Given the description of an element on the screen output the (x, y) to click on. 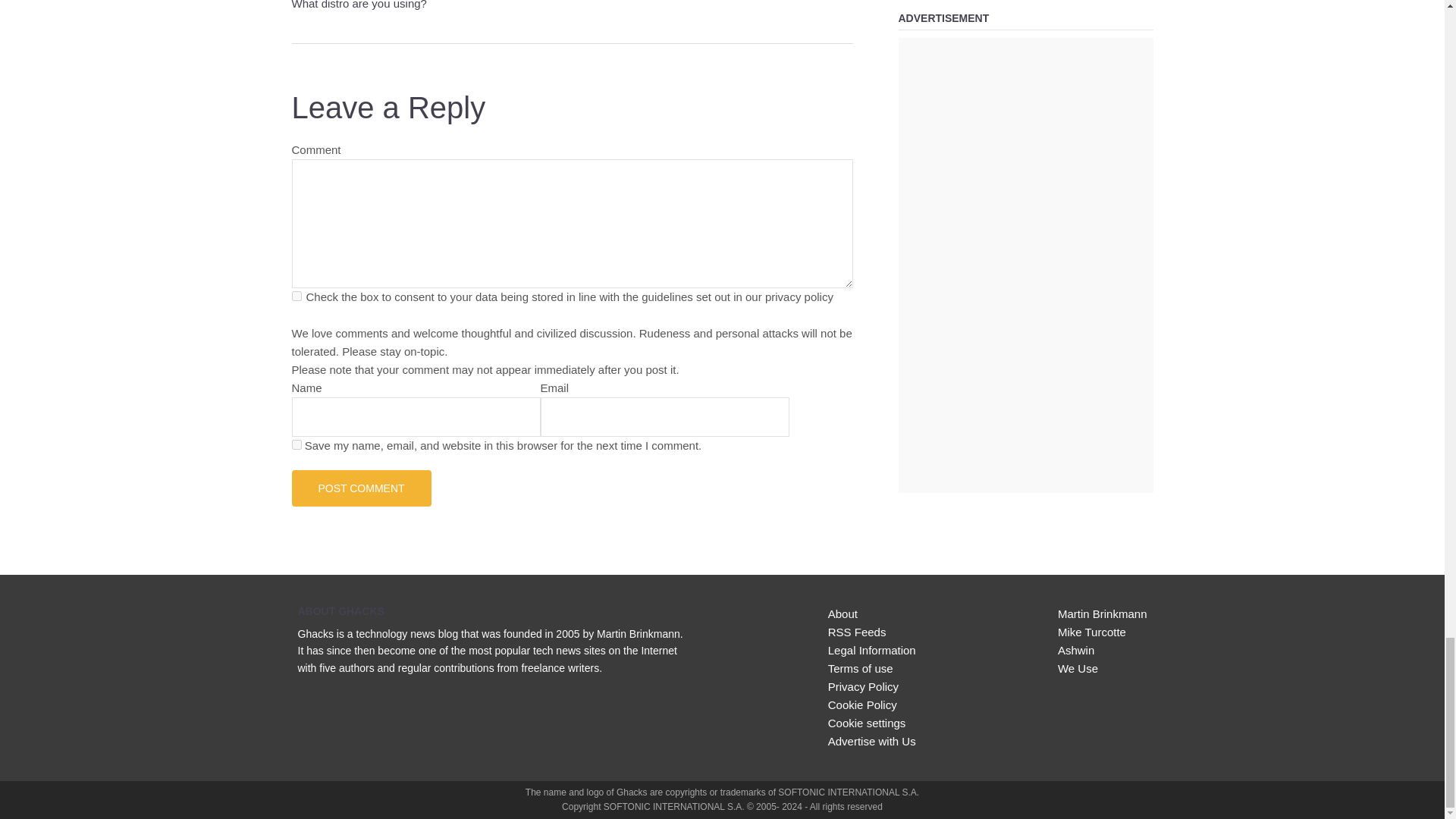
Post Comment (360, 488)
privacy-key (296, 296)
yes (296, 444)
